Given the description of an element on the screen output the (x, y) to click on. 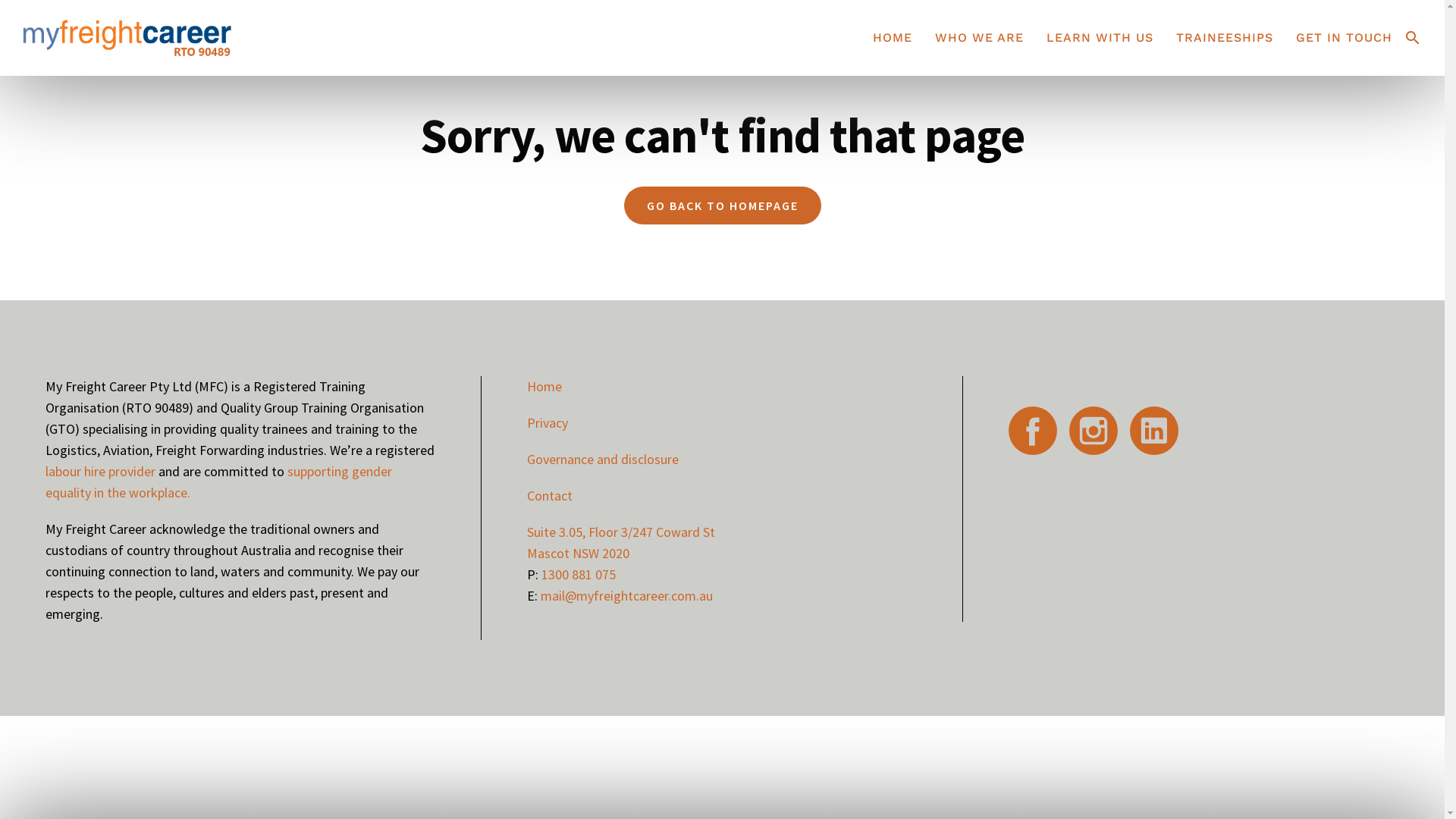
Contact Element type: text (549, 495)
. Element type: text (188, 492)
HOME Element type: text (892, 37)
WHO WE ARE Element type: text (979, 37)
mail@myfreightcareer.com.au Element type: text (626, 595)
search Element type: text (1412, 40)
     Element type: text (1099, 428)
GO BACK TO HOMEPAGE Element type: text (721, 205)
1300 881 075 Element type: text (578, 574)
GET IN TOUCH Element type: text (1343, 37)
labour hire provider Element type: text (100, 471)
LEARN WITH US Element type: text (1099, 37)
Home Element type: text (544, 386)
Suite 3.05, Floor 3/247 Coward St
Mascot NSW 2020 Element type: text (621, 542)
Privacy Element type: text (547, 422)
Governance and disclosure Element type: text (602, 458)
supporting gender equality in the workplace Element type: text (218, 481)
TRAINEESHIPS Element type: text (1224, 37)
